Given the description of an element on the screen output the (x, y) to click on. 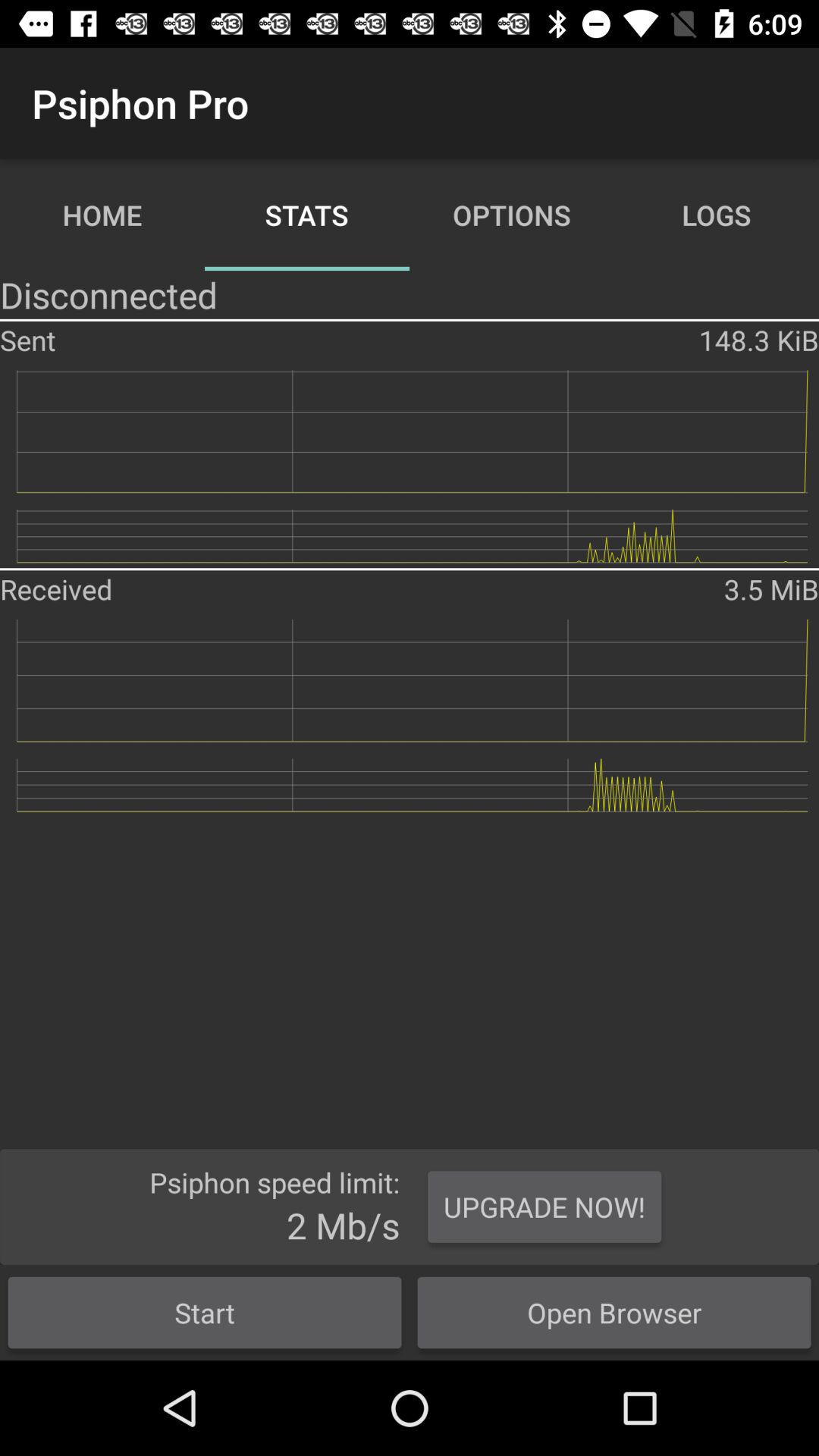
choose the item next to start (614, 1312)
